Given the description of an element on the screen output the (x, y) to click on. 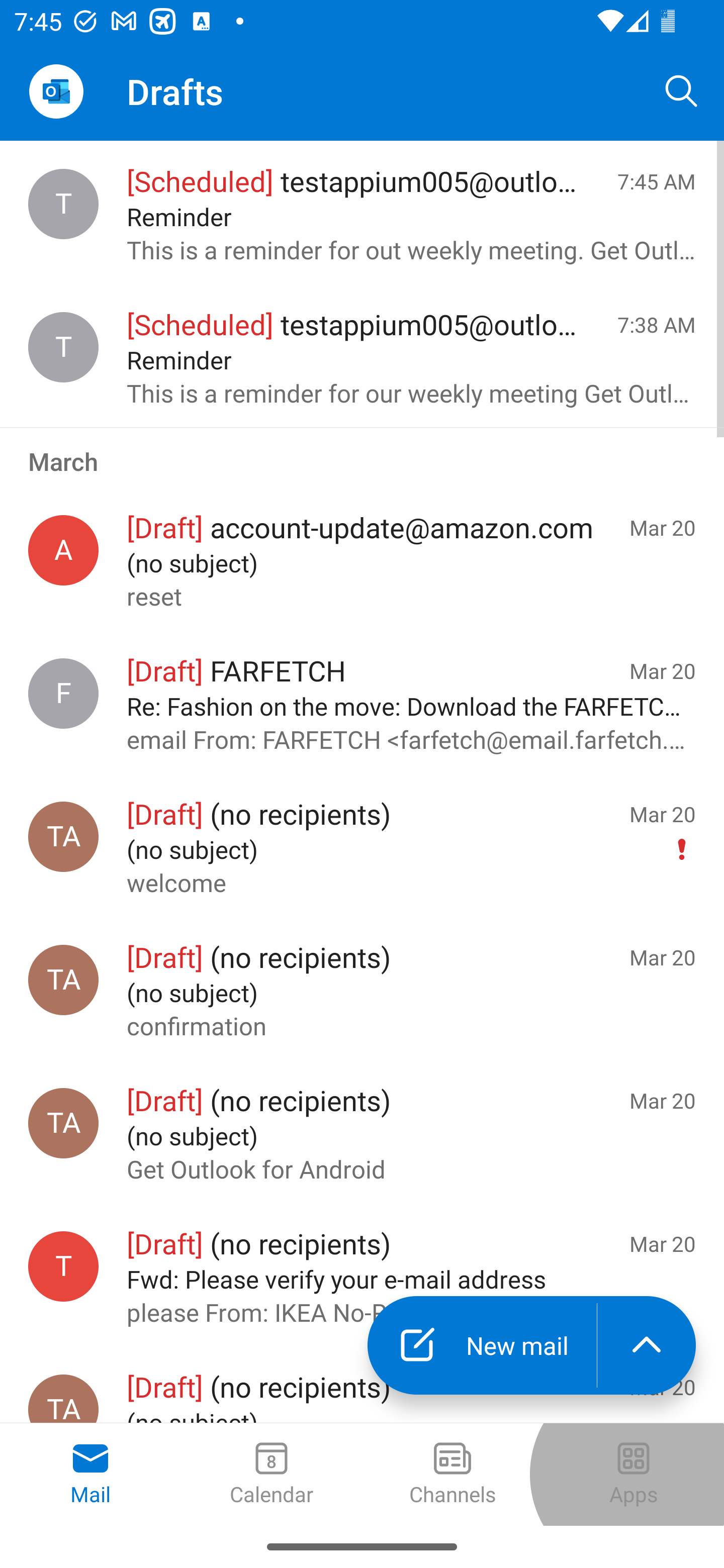
Search, ,  (681, 90)
Open Navigation Drawer (55, 91)
account-update@amazon.com (63, 549)
FARFETCH, testappium002@outlook.com (63, 693)
Test Appium, testappium002@outlook.com (63, 836)
Test Appium, testappium002@outlook.com (63, 979)
Test Appium, testappium002@outlook.com (63, 1123)
testappium002@outlook.com (63, 1265)
New mail (481, 1344)
launch the extended action menu (646, 1344)
Calendar (271, 1474)
Channels (452, 1474)
Apps (633, 1474)
